Given the description of an element on the screen output the (x, y) to click on. 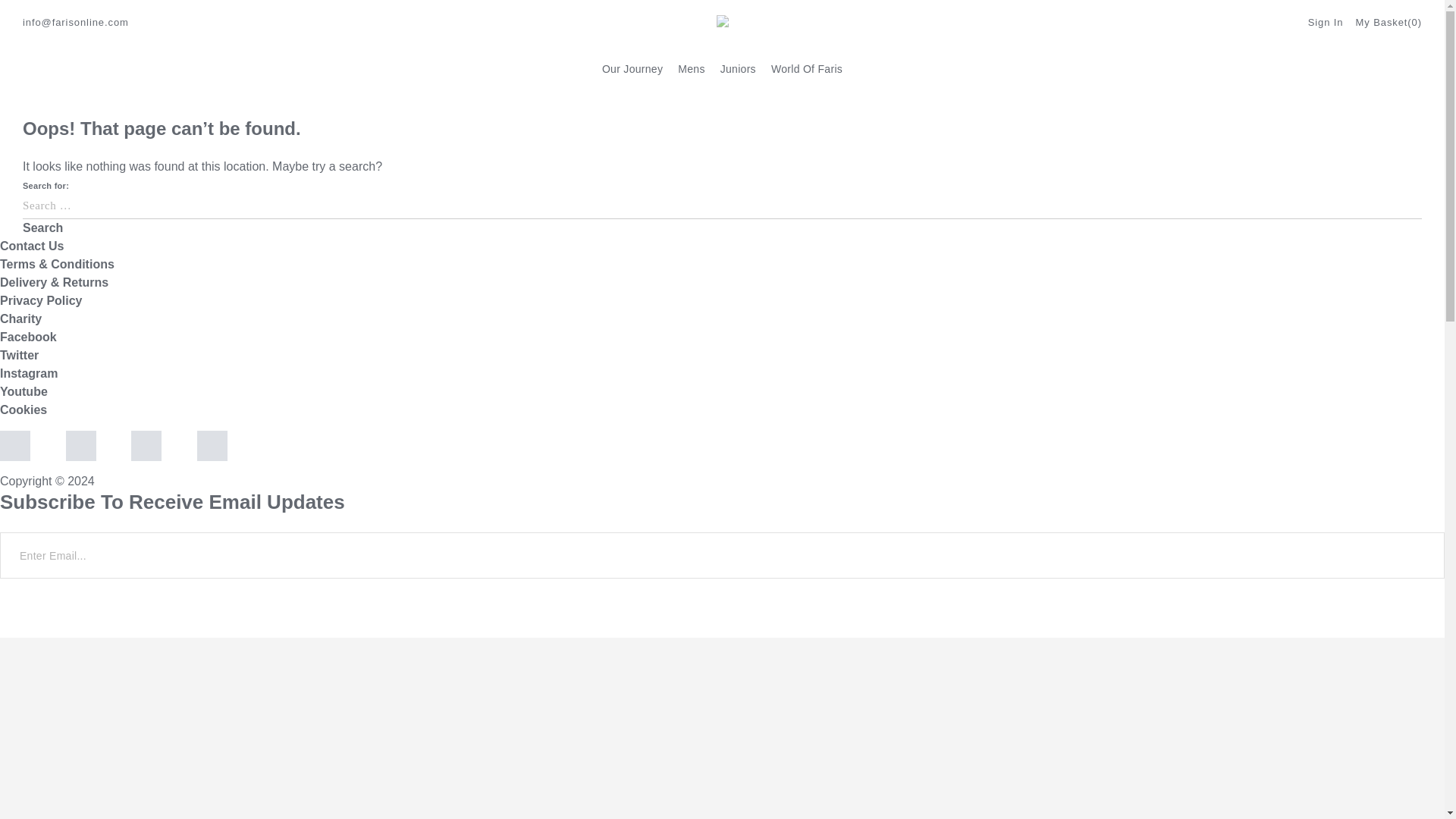
Faris Online (722, 21)
Cookies (23, 409)
home (39, 90)
Cart View (1388, 22)
Subscribe (40, 598)
Charity (21, 318)
Privacy Policy (261, 627)
Search (42, 228)
Contact Us (32, 245)
Privacy Policy (41, 300)
Twitter (19, 354)
World Of Faris (807, 68)
Facebook (28, 336)
Juniors (737, 68)
Mens (691, 68)
